Given the description of an element on the screen output the (x, y) to click on. 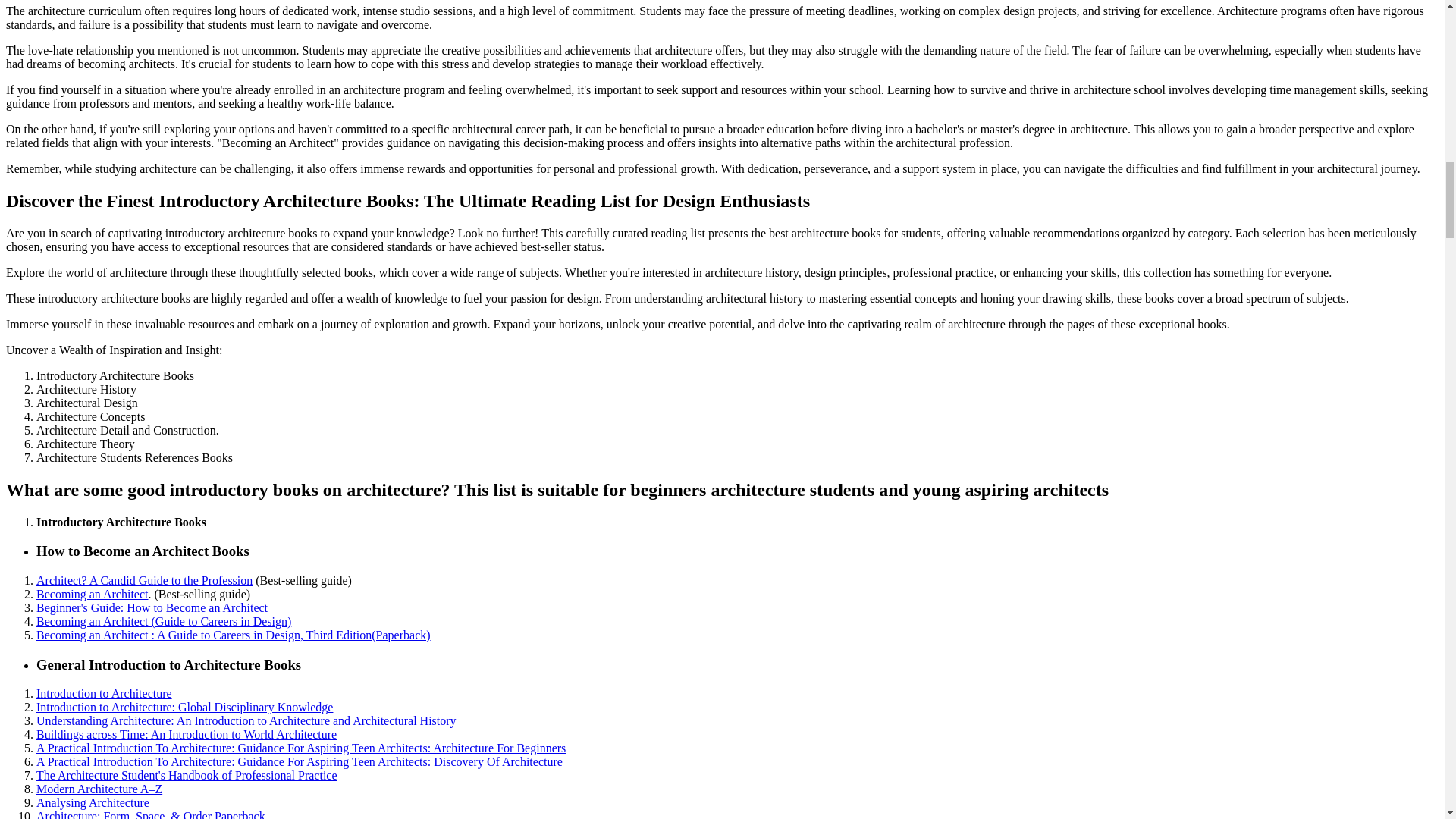
Becoming an Architect (92, 594)
Architect? A Candid Guide to the Profession (143, 580)
Beginner's Guide: How to Become an Architect (151, 607)
Buildings across Time: An Introduction to World Architecture (186, 734)
Introduction to Architecture: Global Disciplinary Knowledge (184, 707)
Introduction to Architecture (103, 693)
The Architecture Student's Handbook of Professional Practice (186, 775)
